Given the description of an element on the screen output the (x, y) to click on. 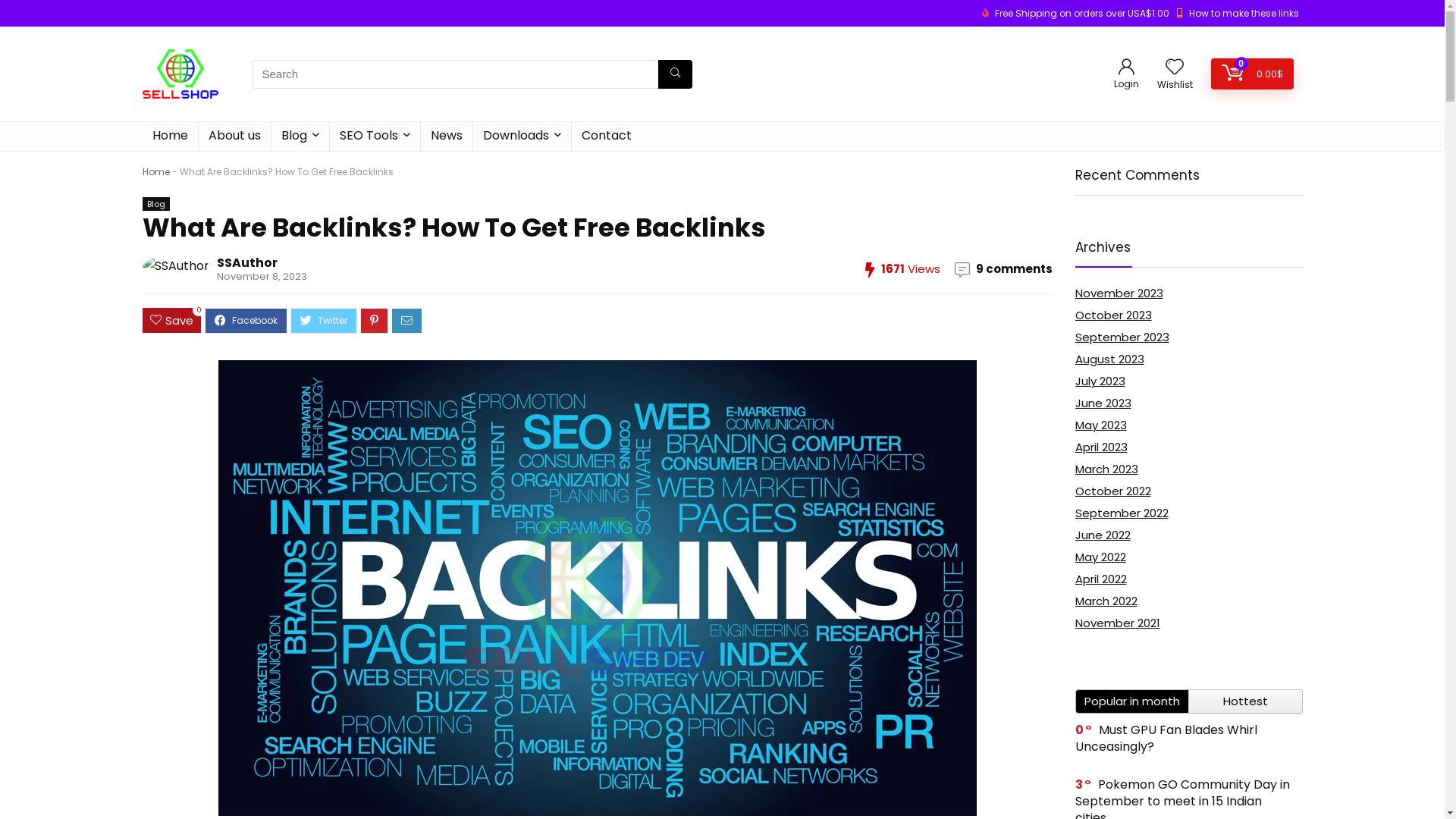
Blog Element type: text (155, 203)
Must GPU Fan Blades Whirl Unceasingly? Element type: text (1166, 738)
May 2022 Element type: text (1100, 556)
November 2021 Element type: text (1117, 622)
September 2023 Element type: text (1122, 337)
How to make these links Element type: text (1244, 12)
October 2022 Element type: text (1113, 490)
SSAuthor Element type: text (246, 262)
August 2023 Element type: text (1109, 359)
April 2023 Element type: text (1101, 447)
March 2022 Element type: text (1106, 600)
October 2023 Element type: text (1113, 315)
Blog Element type: text (300, 136)
Home Element type: text (169, 136)
9 comments Element type: text (1013, 268)
Downloads Element type: text (522, 136)
News Element type: text (445, 136)
March 2023 Element type: text (1106, 468)
July 2023 Element type: text (1100, 381)
June 2022 Element type: text (1102, 534)
0
0.00$ Element type: text (1251, 73)
Contact Element type: text (606, 136)
May 2023 Element type: text (1100, 425)
SEO Tools Element type: text (374, 136)
September 2022 Element type: text (1121, 512)
November 2023 Element type: text (1119, 293)
April 2022 Element type: text (1100, 578)
About us Element type: text (234, 136)
June 2023 Element type: text (1103, 403)
Home Element type: text (155, 171)
